Given the description of an element on the screen output the (x, y) to click on. 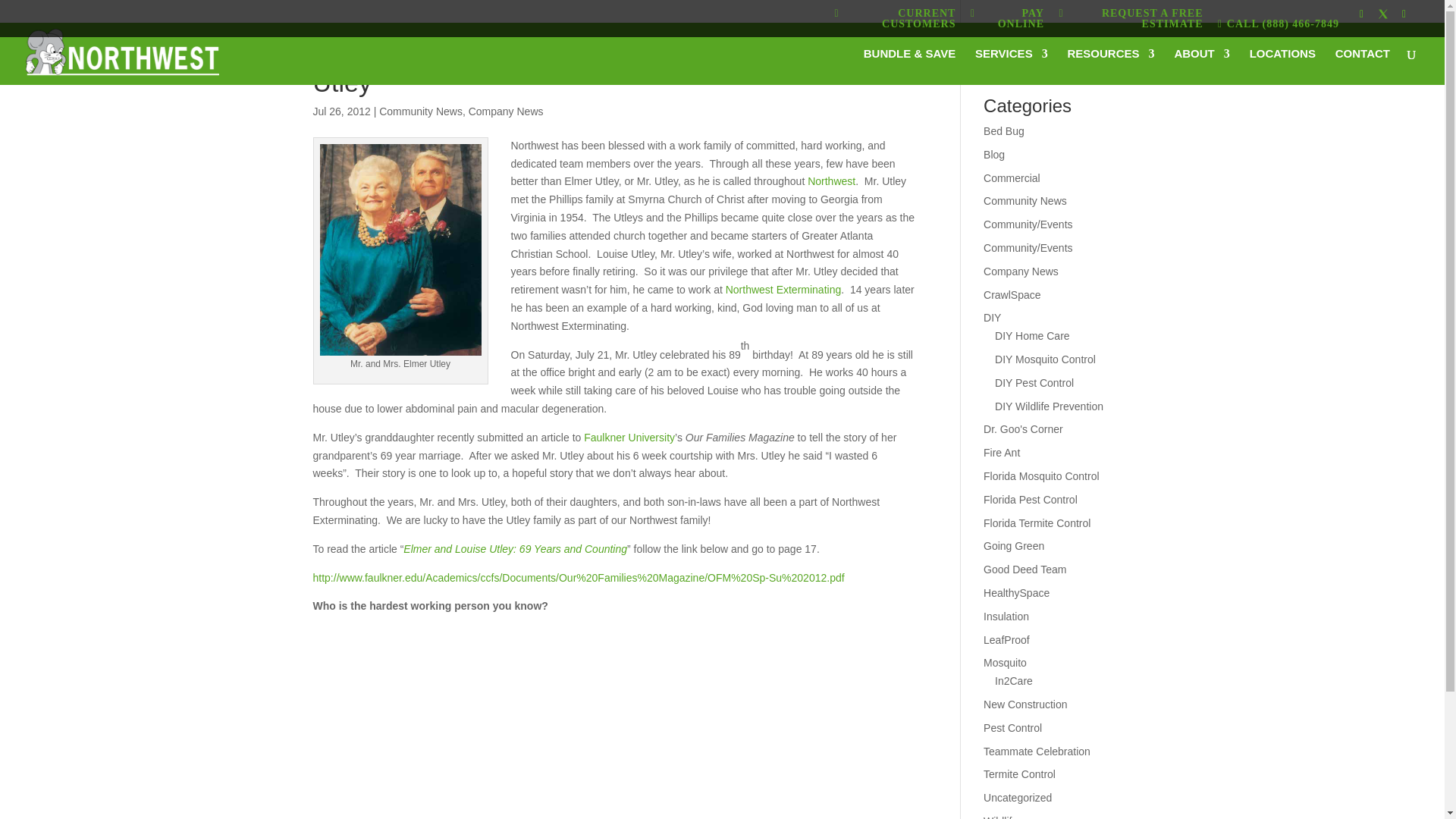
PAY ONLINE (1007, 21)
CURRENT CUSTOMERS (894, 21)
ABOUT (1200, 66)
SERVICES (1011, 66)
RESOURCES (1110, 66)
REQUEST A FREE ESTIMATE (1130, 21)
Search (1106, 59)
